Given the description of an element on the screen output the (x, y) to click on. 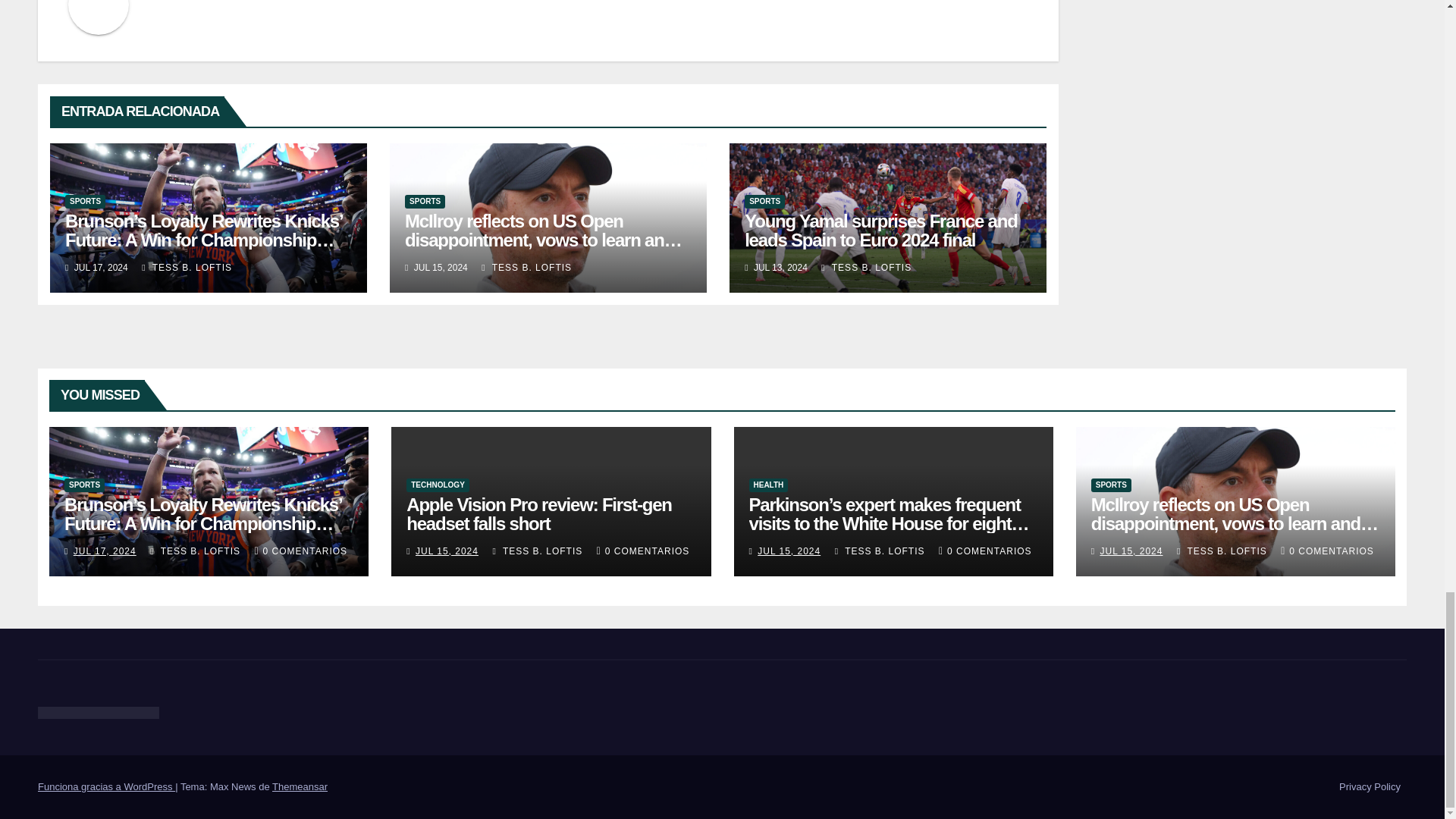
SPORTS (424, 201)
SPORTS (84, 201)
Privacy Policy (1369, 786)
TESS B. LOFTIS (866, 267)
TESS B. LOFTIS (526, 267)
SPORTS (764, 201)
TESS B. LOFTIS (186, 267)
